Given the description of an element on the screen output the (x, y) to click on. 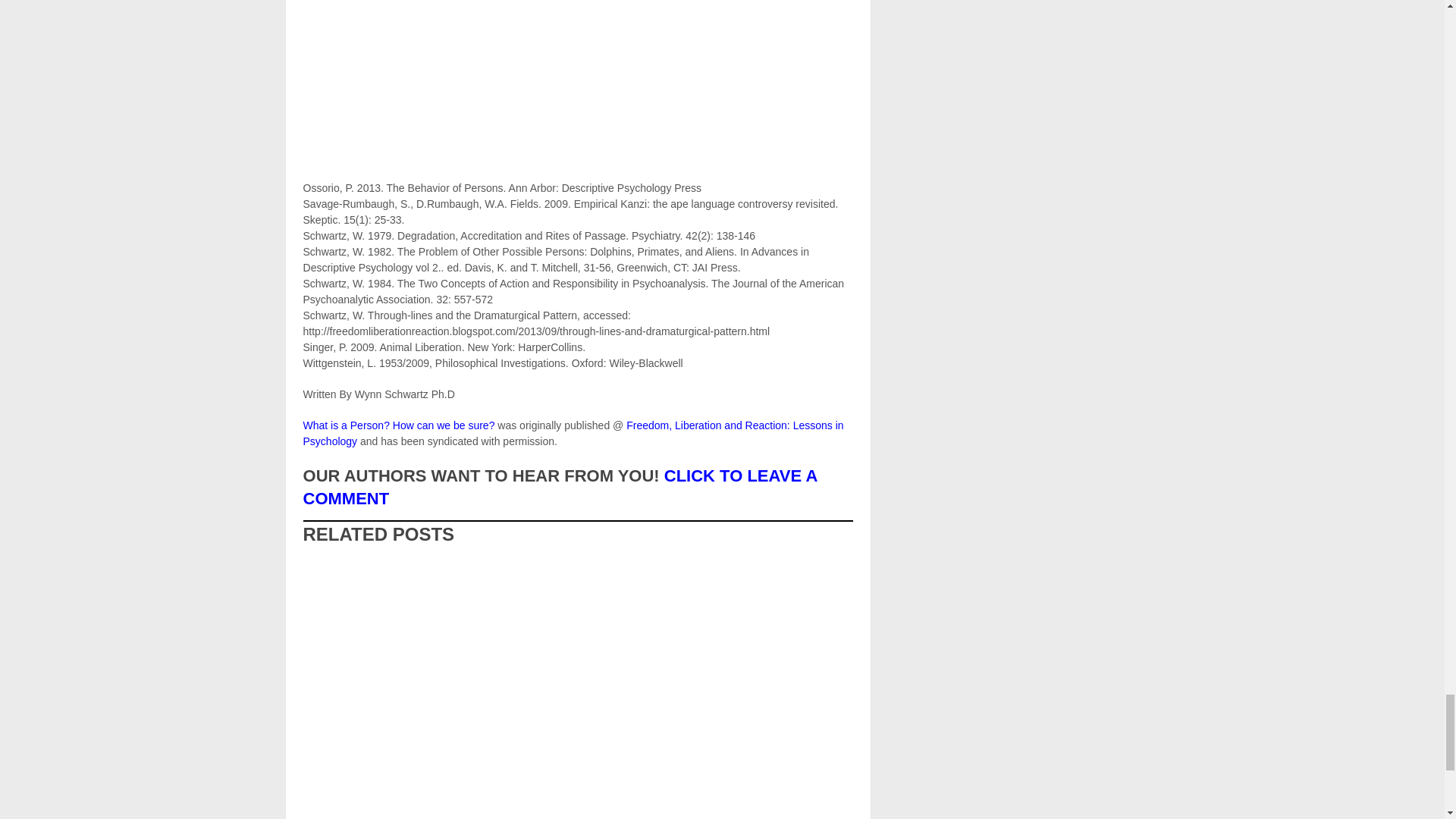
Freedom, (573, 433)
CLICK TO LEAVE A COMMENT (559, 487)
What is a Person? How can we be sure? (398, 425)
What (398, 425)
Freedom, Liberation and Reaction: Lessons in Psychology (573, 433)
